Given the description of an element on the screen output the (x, y) to click on. 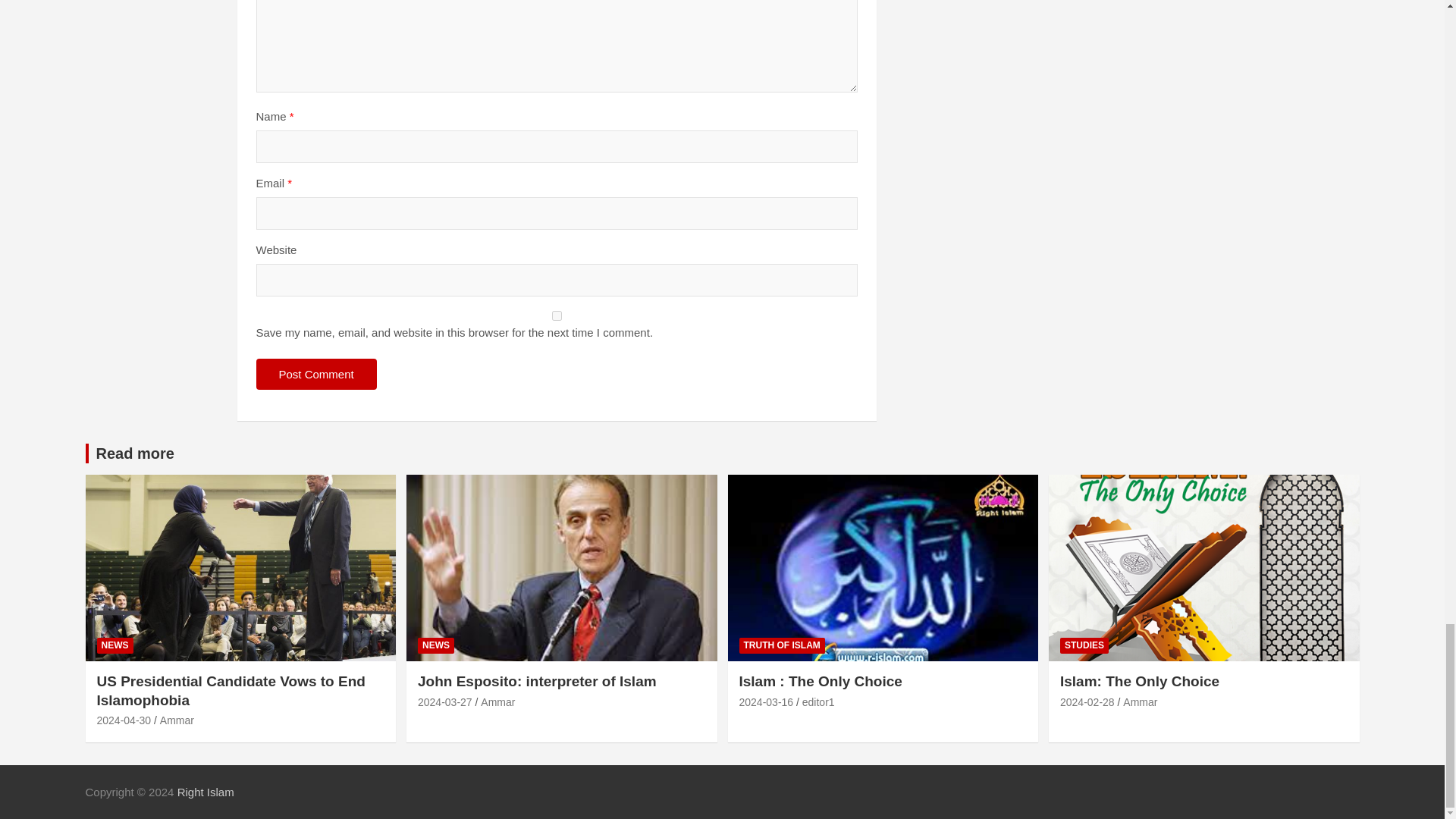
US Presidential Candidate Vows to End Islamophobia (124, 720)
yes (556, 316)
Islam : The Only Choice (765, 702)
John Esposito: interpreter of Islam (444, 702)
Islam: The Only Choice (1087, 702)
Right Islam (205, 791)
Post Comment (316, 373)
